Given the description of an element on the screen output the (x, y) to click on. 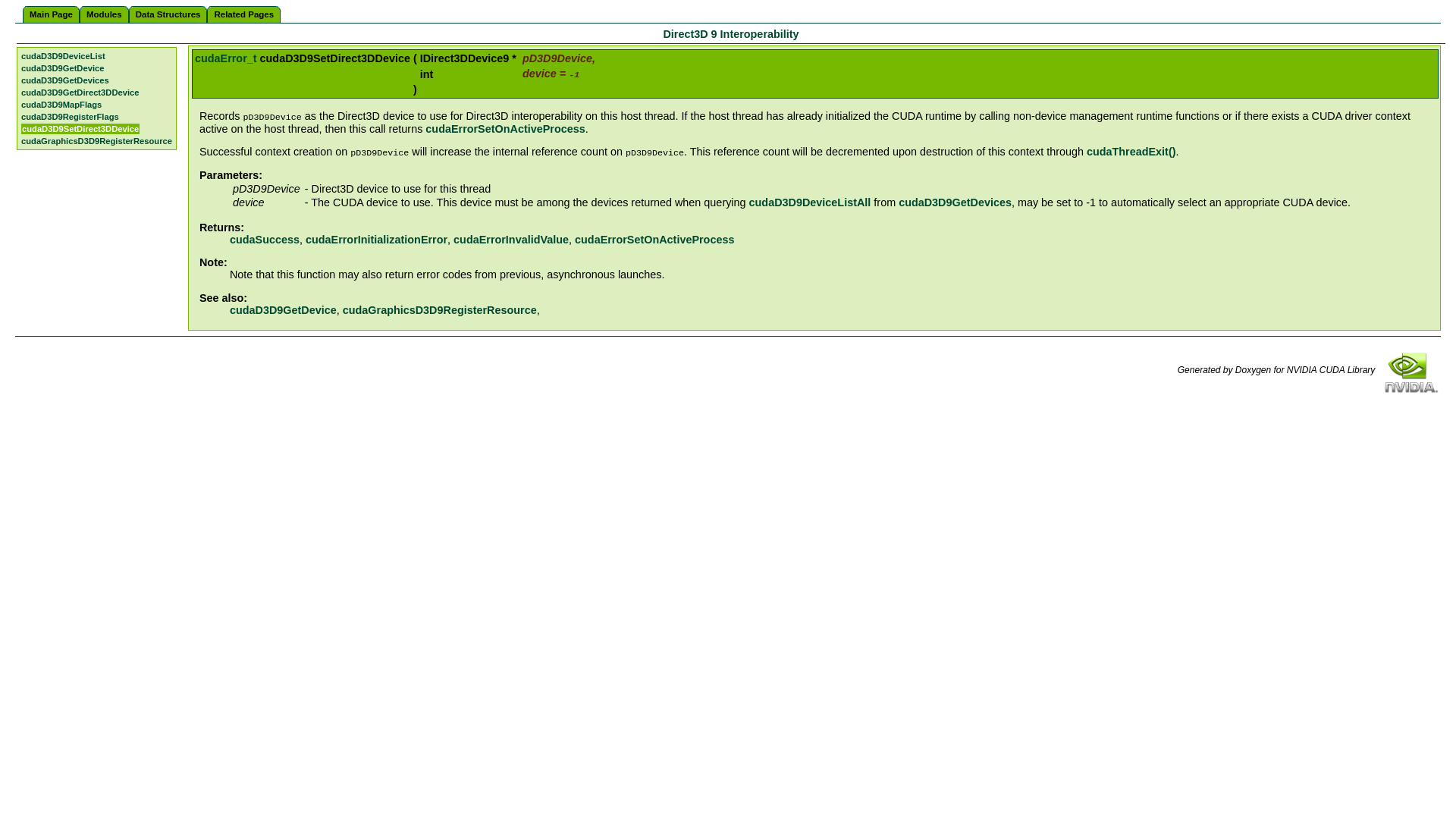
cudaD3D9RegisterFlags (70, 116)
cudaD3D9DeviceList (62, 55)
cudaGraphicsD3D9RegisterResource (439, 309)
cudaD3D9GetDevice (283, 309)
Register a Direct3D 9 resource for access by CUDA. (439, 309)
cudaErrorSetOnActiveProcess (654, 239)
cudaD3D9GetDevices (65, 80)
cudaErrorInvalidValue (510, 239)
cudaSuccess (264, 239)
cudaD3D9DeviceListAll (809, 202)
cudaD3D9GetDevice (62, 67)
Gets the device number for an adapter. (283, 309)
cudaD3D9GetDevices (954, 202)
Direct3D 9 Interoperability (729, 33)
Data Structures (168, 14)
